Given the description of an element on the screen output the (x, y) to click on. 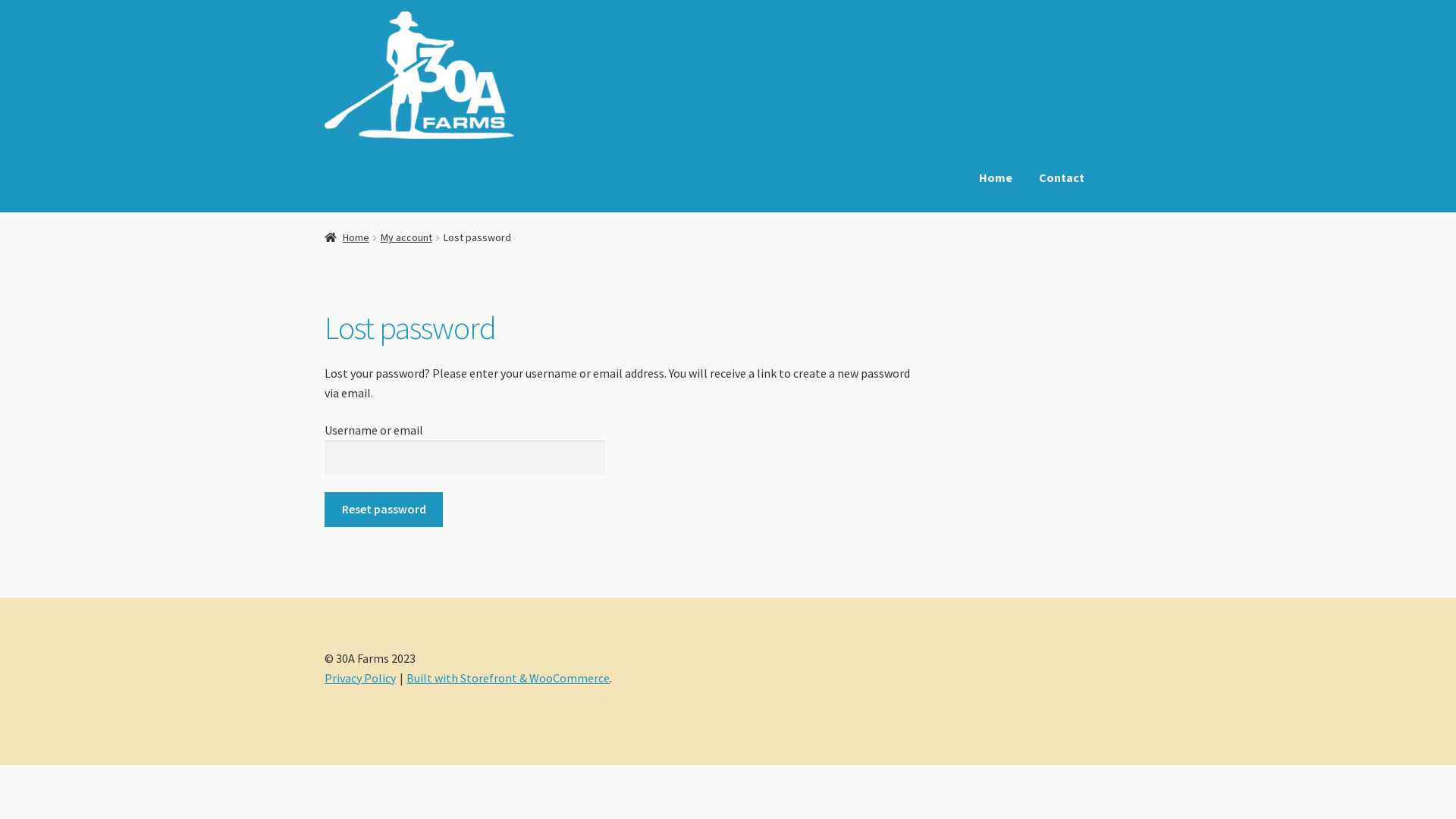
Skip to navigation Element type: text (323, 10)
My account Element type: text (406, 237)
Privacy Policy Element type: text (359, 677)
Home Element type: text (995, 178)
Built with Storefront & WooCommerce Element type: text (507, 677)
Reset password Element type: text (383, 509)
Contact Element type: text (1061, 178)
Home Element type: text (346, 237)
